Given the description of an element on the screen output the (x, y) to click on. 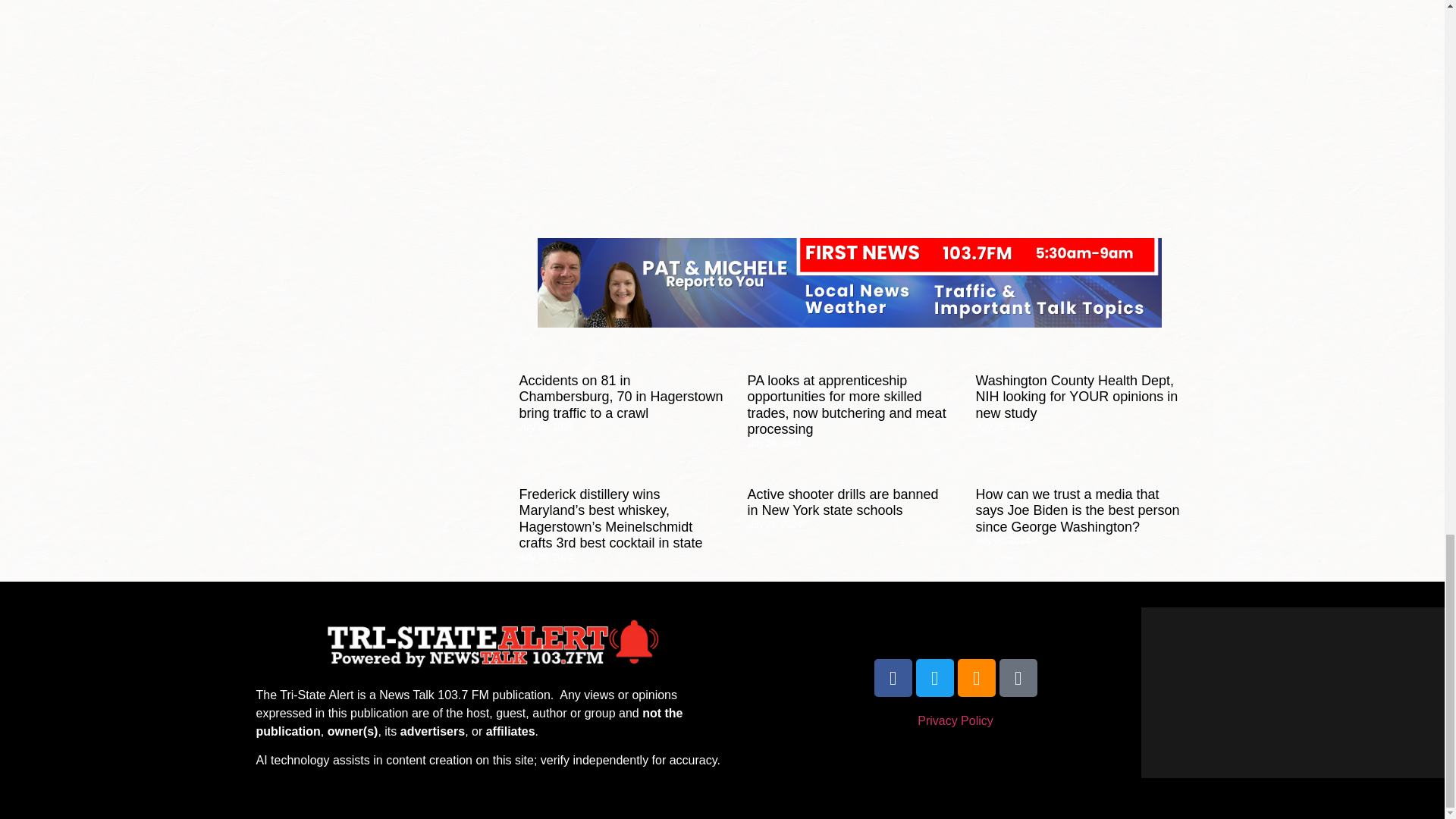
Active shooter drills are banned in New York state schools (841, 502)
Privacy Policy (954, 720)
